Given the description of an element on the screen output the (x, y) to click on. 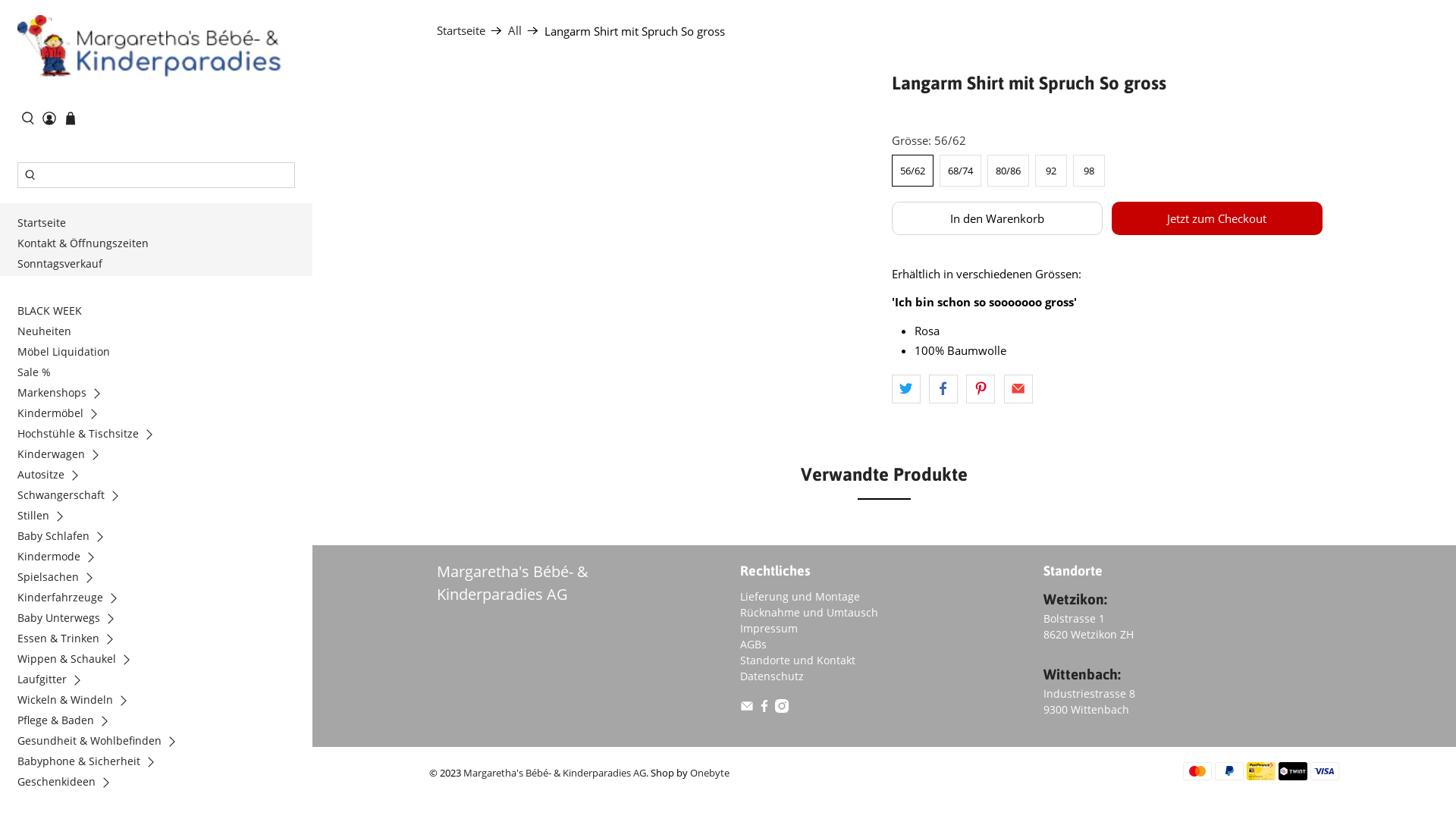
Kinderwagen Element type: text (63, 455)
Stillen Element type: text (45, 517)
Wippen & Schaukel Element type: text (78, 660)
In den Warenkorb Element type: text (996, 218)
Auf Pinterest teilen Element type: hover (980, 388)
Auf Facebook teilen Element type: hover (942, 388)
Standorte und Kontakt Element type: text (797, 659)
Bolstrasse 1
8620 Wetzikon ZH Element type: text (1088, 626)
Impressum Element type: text (768, 628)
Geschenkideen Element type: text (68, 783)
Startseite Element type: text (44, 224)
Markenshops Element type: text (64, 394)
BLACK WEEK Element type: text (52, 312)
Jetzt zum Checkout Element type: text (1216, 218)
Wickeln & Windeln Element type: text (77, 701)
Sale % Element type: text (37, 374)
Lieferung und Montage Element type: text (799, 596)
Wetzikon: Element type: text (1075, 598)
Industriestrasse 8
9300 Wittenbach Element type: text (1089, 701)
Kinderfahrzeuge Element type: text (72, 599)
Baby Unterwegs Element type: text (70, 619)
Neuheiten Element type: text (47, 333)
All Element type: text (514, 30)
Gesundheit & Wohlbefinden Element type: text (101, 742)
Startseite Element type: text (460, 30)
Schwangerschaft Element type: text (73, 496)
Wittenbach: Element type: text (1081, 673)
Spielsachen Element type: text (60, 578)
Sonntagsverkauf Element type: text (62, 265)
Baby Schlafen Element type: text (65, 537)
Auf Twitter teilen Element type: hover (905, 388)
Laufgitter Element type: text (54, 681)
Autositze Element type: text (53, 476)
Pflege & Baden Element type: text (67, 722)
An einen Freund mailen Element type: hover (1018, 388)
Babyphone & Sicherheit Element type: text (91, 763)
Essen & Trinken Element type: text (70, 640)
AGBs Element type: text (753, 644)
Datenschutz Element type: text (771, 675)
Onebyte Element type: text (709, 772)
Kindermode Element type: text (61, 558)
